Given the description of an element on the screen output the (x, y) to click on. 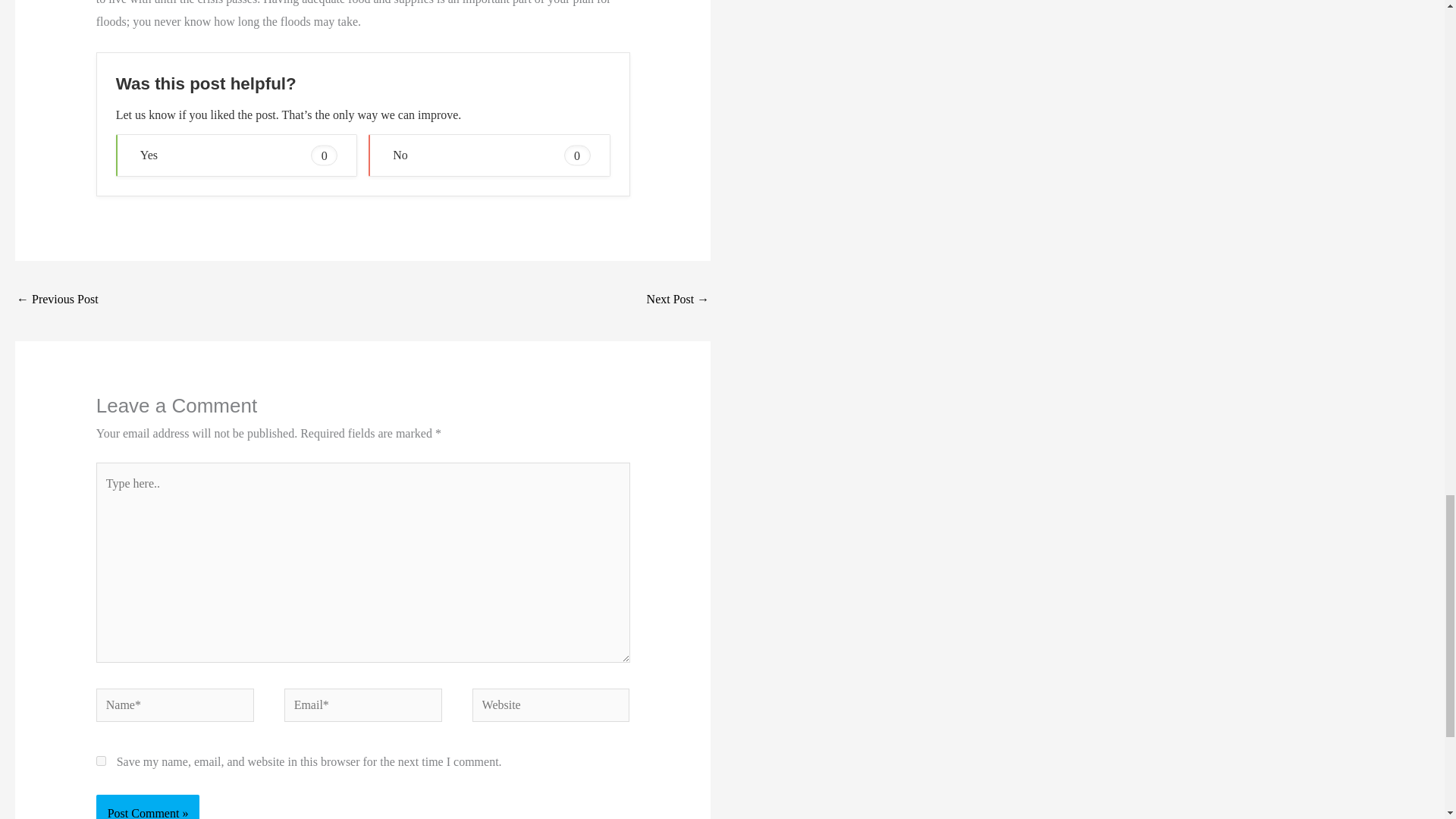
Dangers Posed by Sleep Positioning Devices For Babies (57, 300)
yes (101, 760)
Dealing With An Egg Allergy (678, 300)
